Given the description of an element on the screen output the (x, y) to click on. 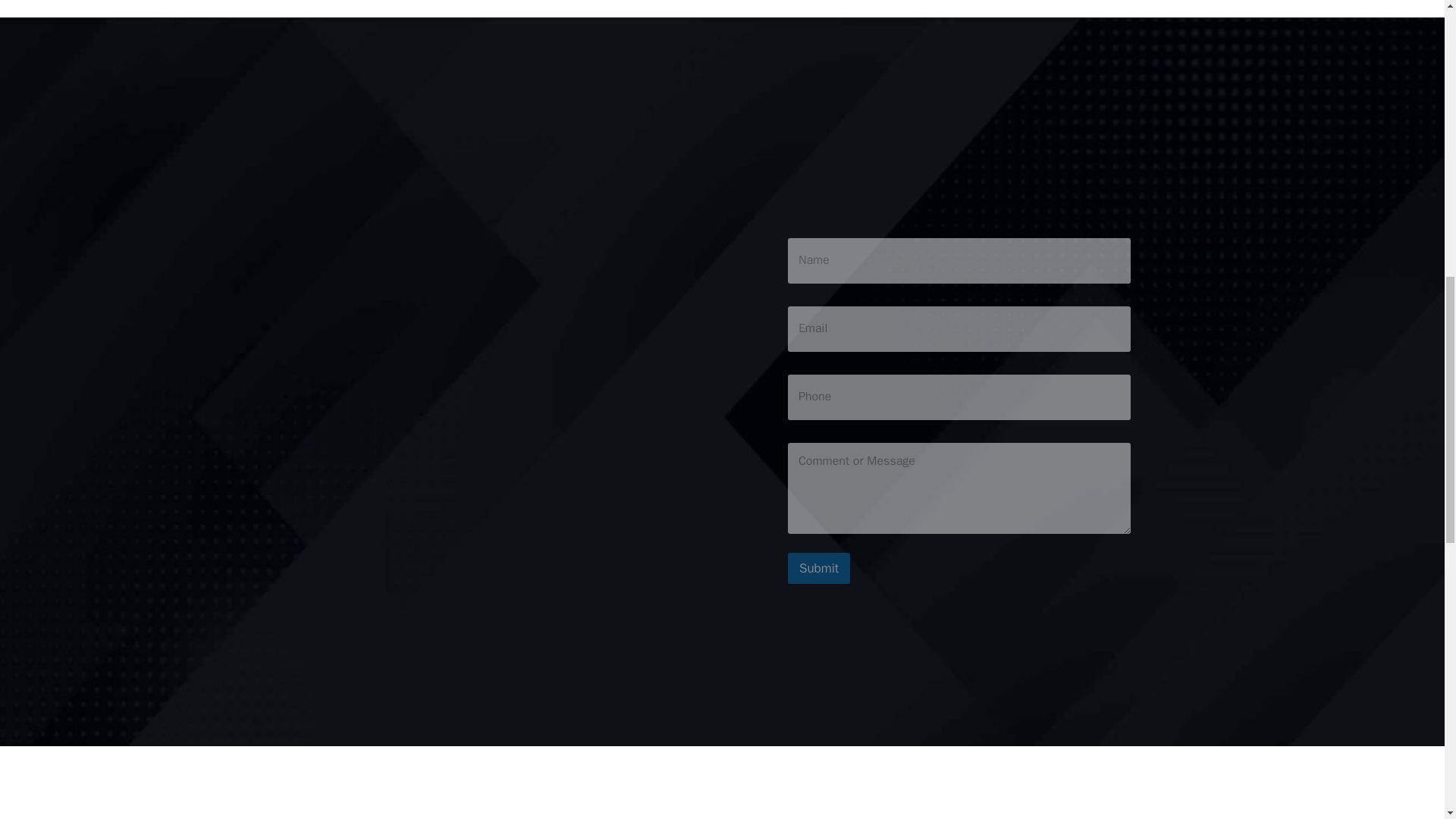
Submit (818, 567)
